Given the description of an element on the screen output the (x, y) to click on. 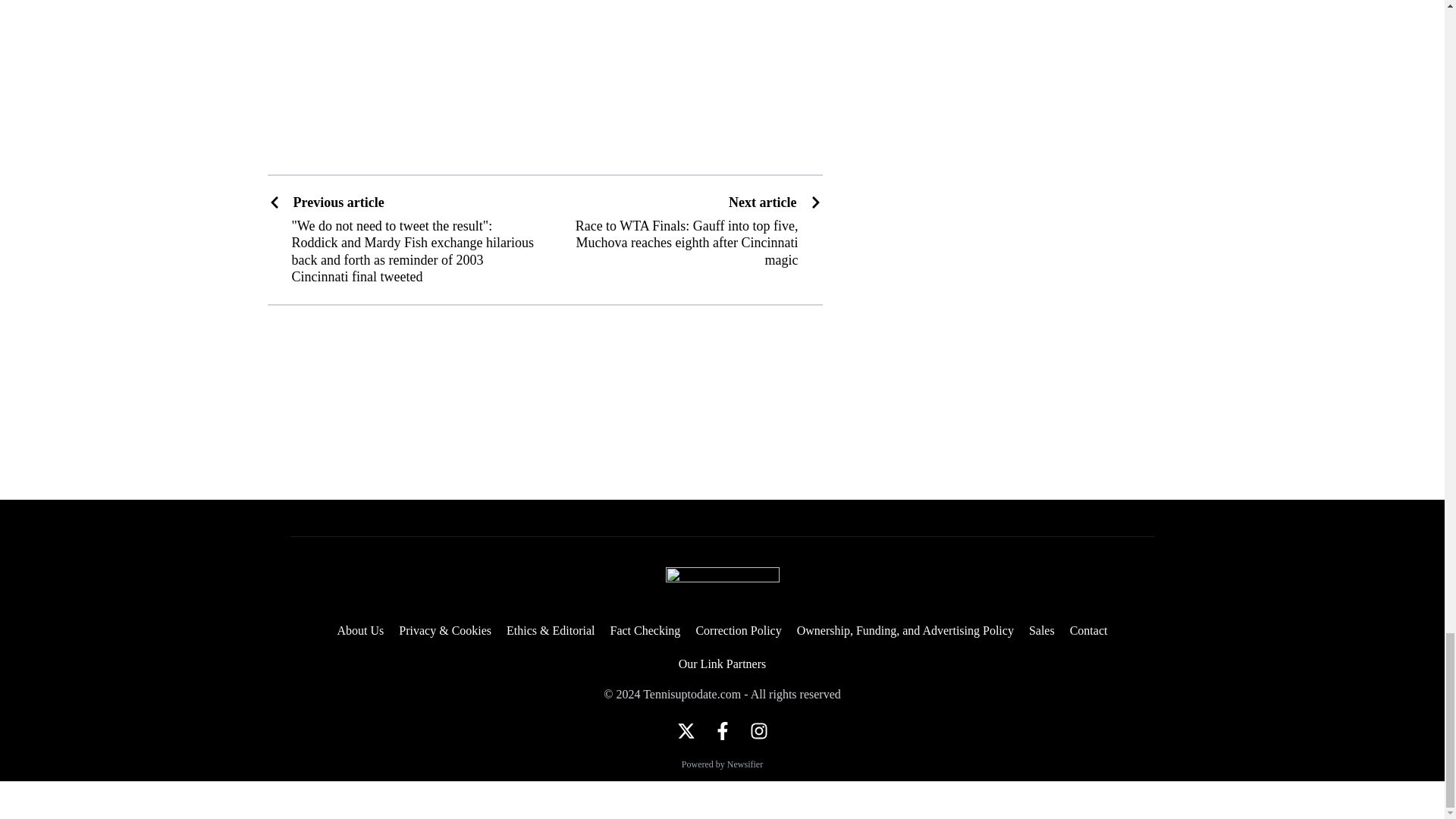
Next article (775, 202)
website logo (721, 585)
instagram account (758, 730)
embed (544, 78)
twitter account (685, 730)
facebook account (721, 730)
Previous article (400, 202)
